Given the description of an element on the screen output the (x, y) to click on. 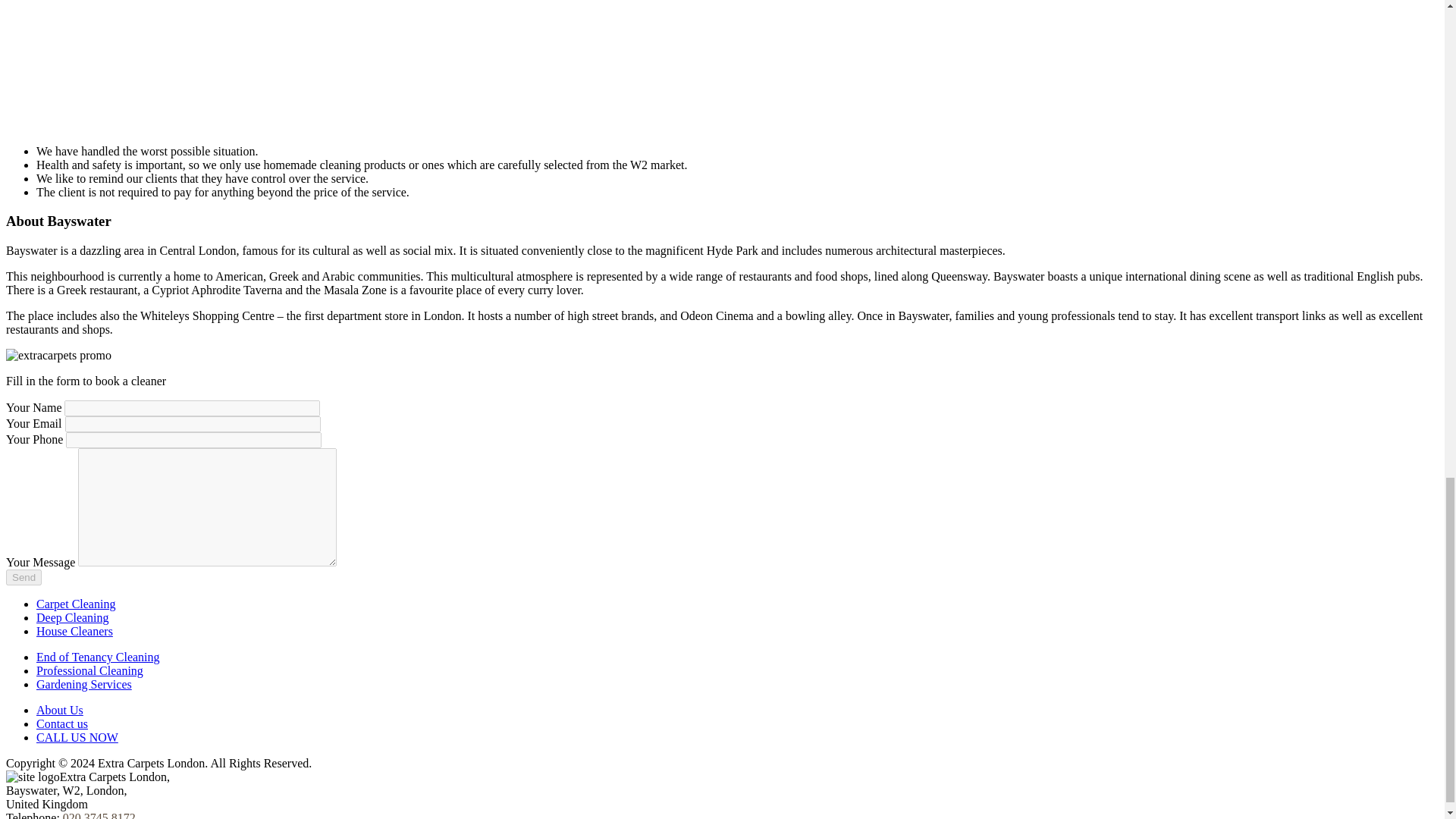
Contact us (61, 723)
Carpet Cleaning (75, 603)
House Cleaners (74, 631)
CALL US NOW (76, 737)
About Us (59, 709)
End of Tenancy Cleaning (98, 656)
Send (23, 577)
Professional Cleaning (89, 670)
Gardening Services (84, 684)
Send (23, 577)
